Given the description of an element on the screen output the (x, y) to click on. 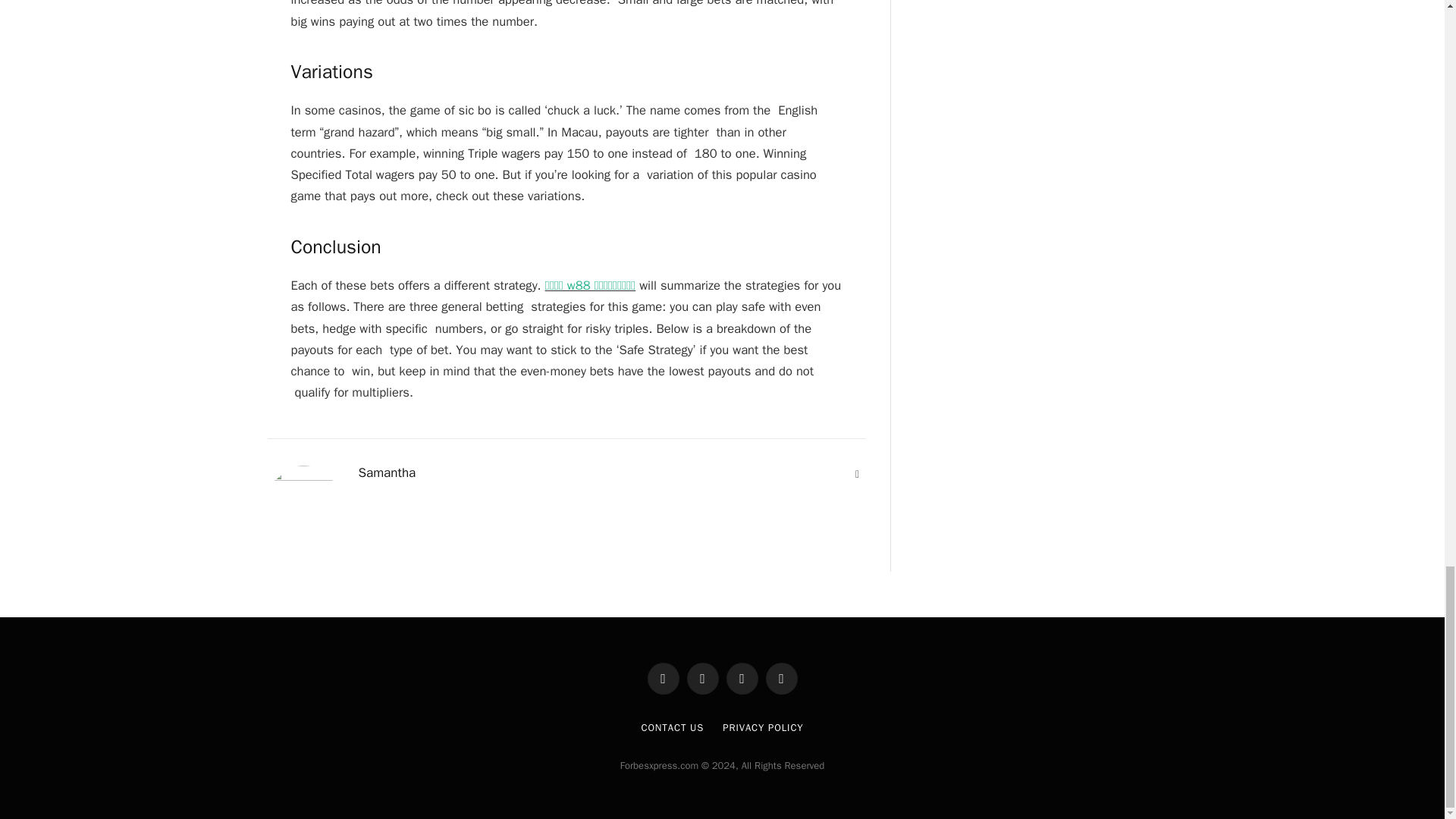
Samantha (386, 473)
Website (856, 474)
Posts by Samantha (386, 473)
Website (856, 474)
